Given the description of an element on the screen output the (x, y) to click on. 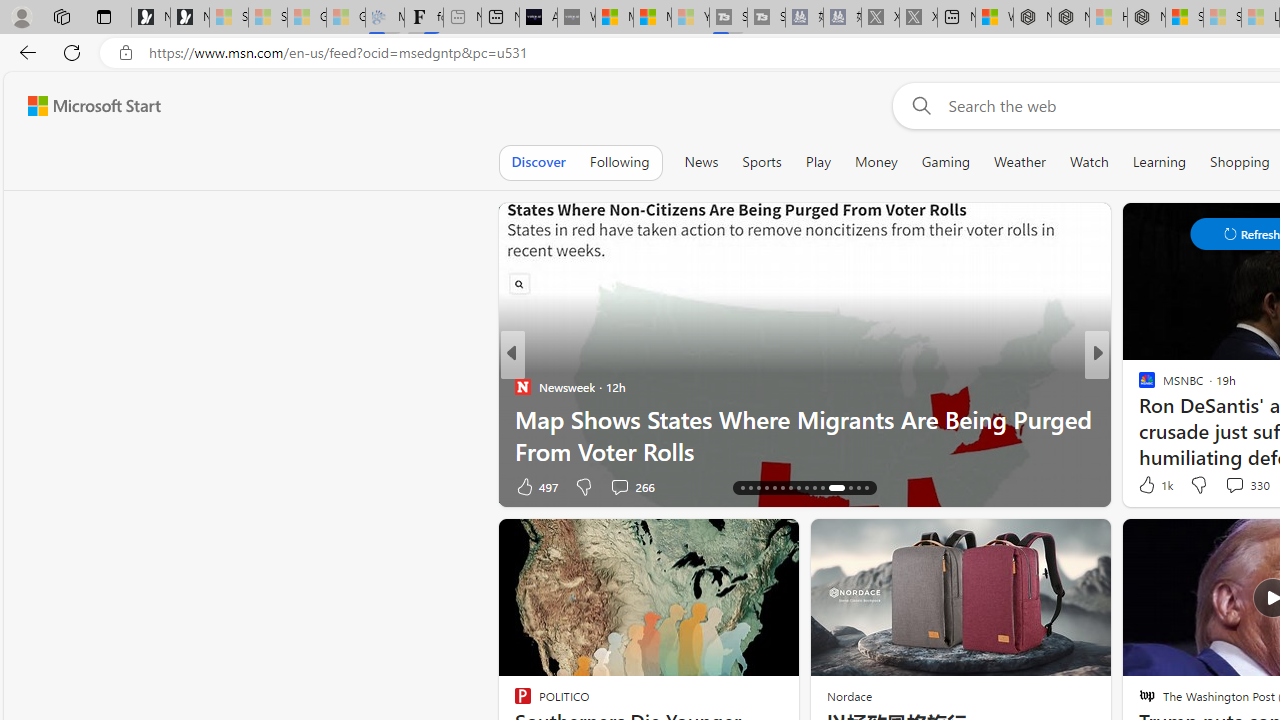
View comments 55 Comment (622, 486)
View comments 266 Comment (11, 485)
AutomationID: tab-25 (814, 487)
Business Insider (522, 386)
AutomationID: tab-16 (742, 487)
View comments 330 Comment (1246, 484)
AutomationID: tab-23 (797, 487)
Gaming (945, 161)
AutomationID: tab-17 (750, 487)
AutomationID: tab-27 (832, 487)
View comments 213 Comment (11, 485)
Skip to content (86, 105)
